Given the description of an element on the screen output the (x, y) to click on. 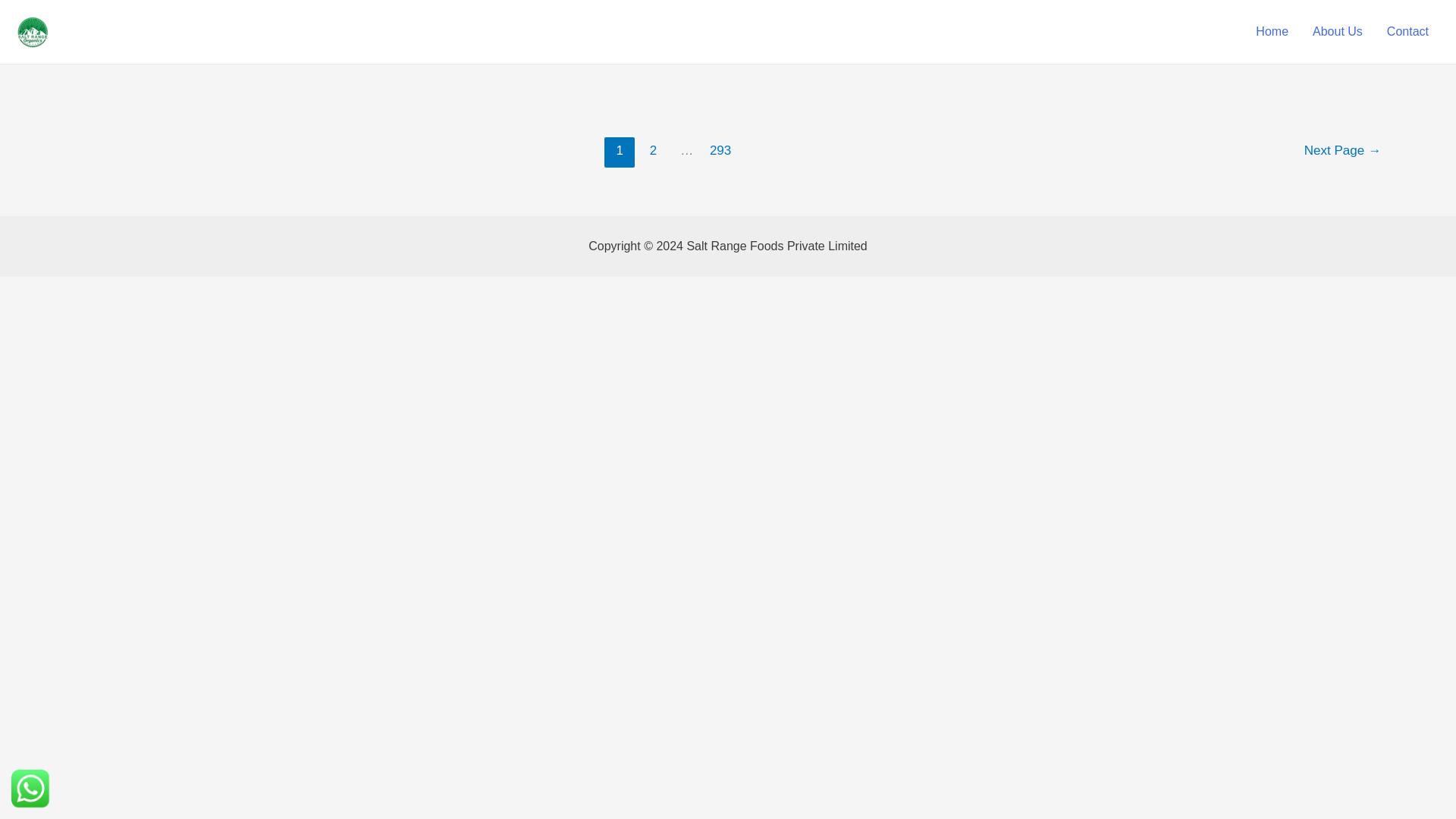
Home (1271, 31)
About Us (1337, 31)
Contact (1407, 31)
293 (719, 152)
2 (653, 152)
